Given the description of an element on the screen output the (x, y) to click on. 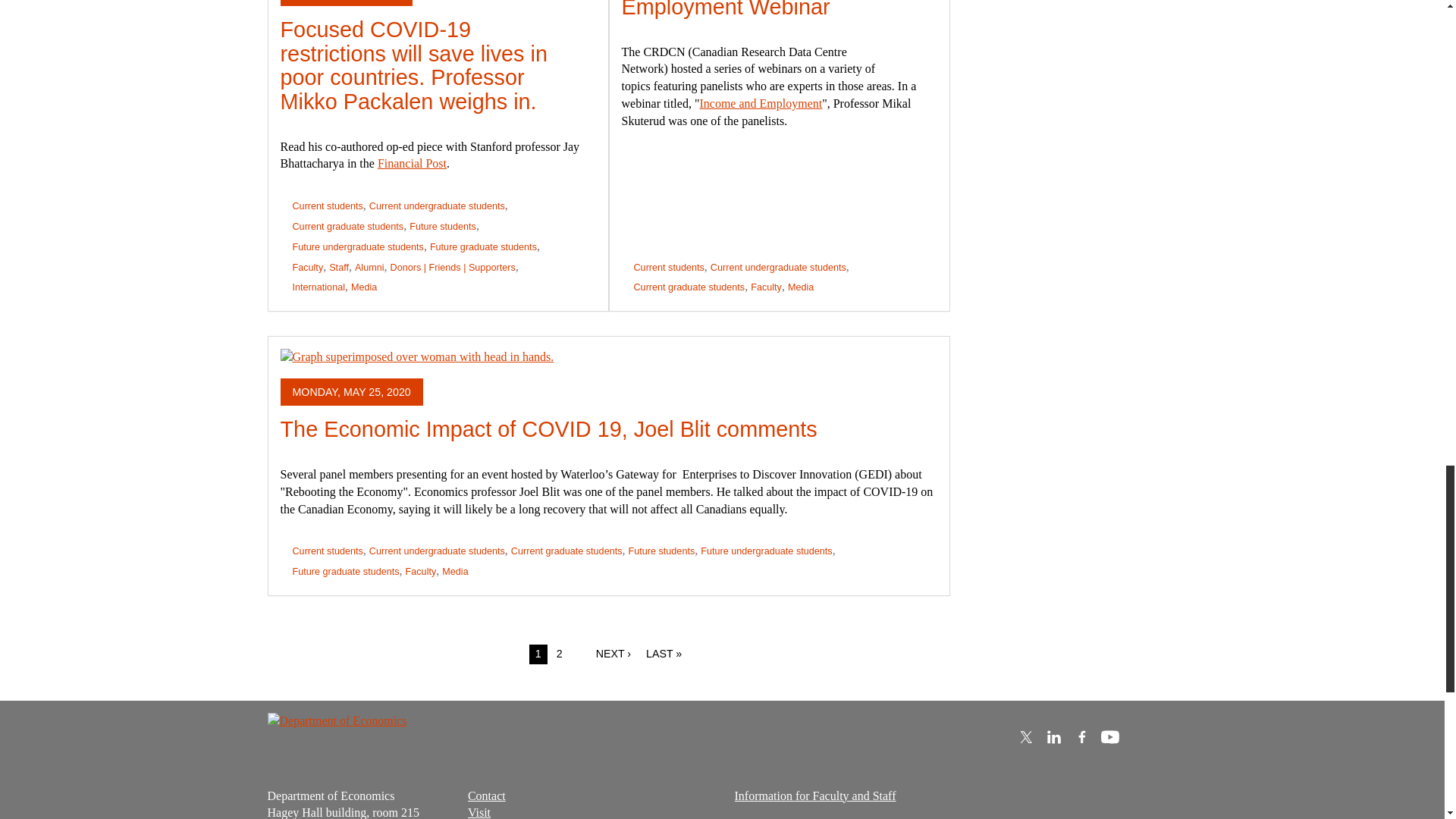
Go to last page (663, 654)
Go to next page (613, 654)
Go to page 2 (559, 654)
